Given the description of an element on the screen output the (x, y) to click on. 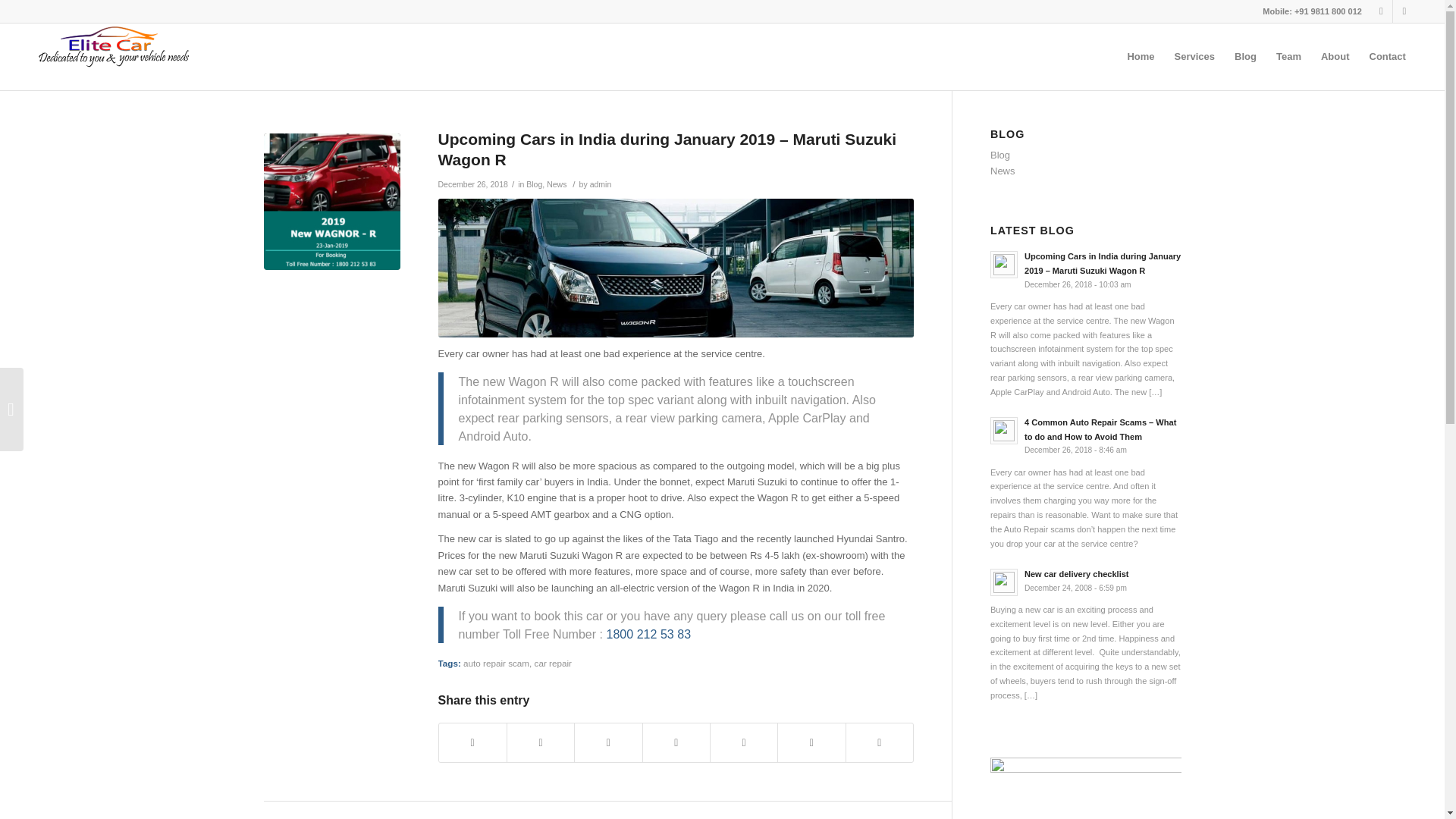
Twitter (1380, 11)
1800 212 53 83 (649, 633)
admin (1085, 580)
blog-car-wagnor-r-banner (600, 184)
auto repair scam (676, 268)
Posts by admin (496, 663)
Blog (600, 184)
Facebook (533, 184)
Blog (1404, 11)
